Given the description of an element on the screen output the (x, y) to click on. 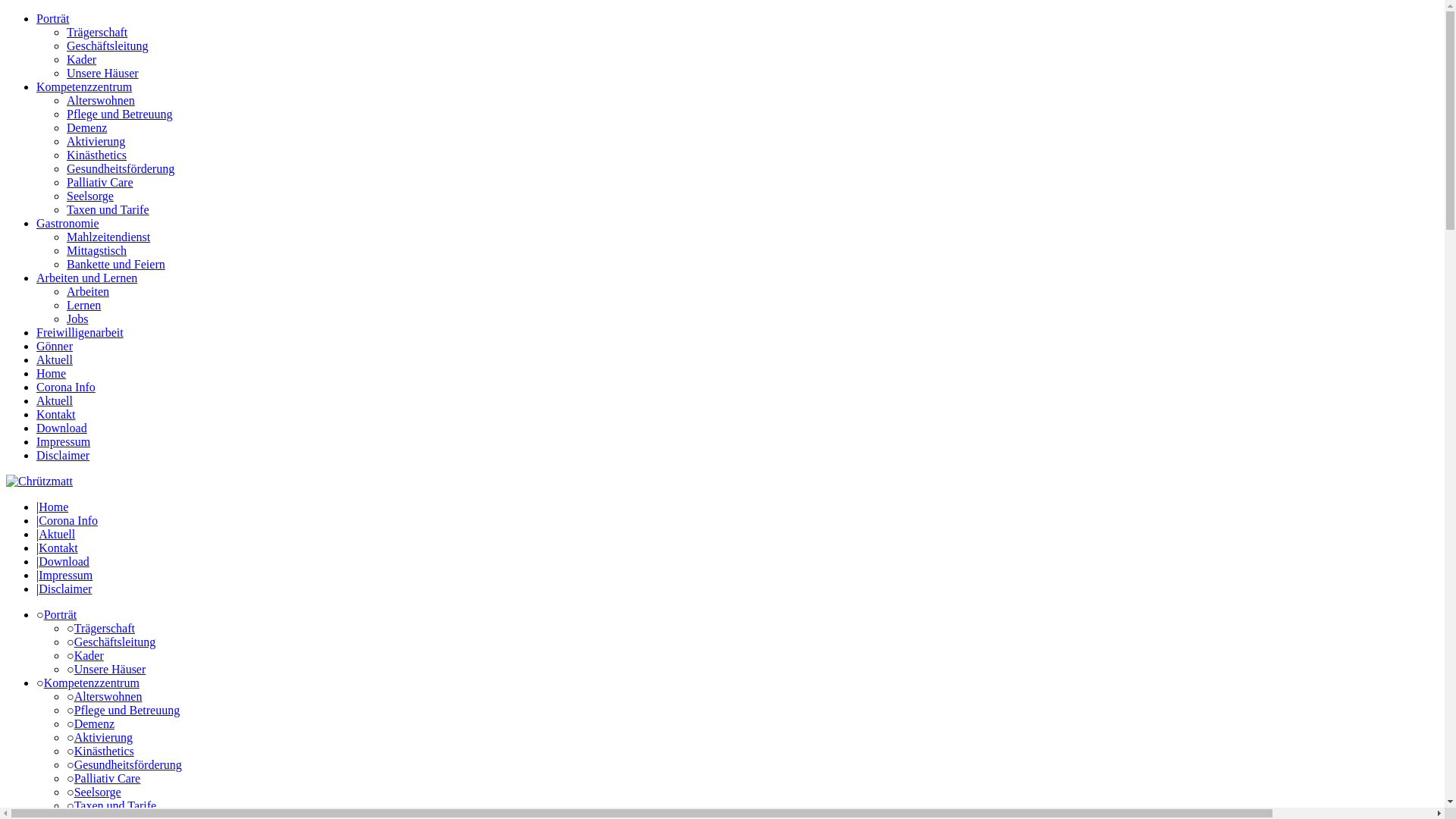
Disclaimer Element type: text (64, 588)
Kompetenzzentrum Element type: text (83, 86)
Seelsorge Element type: text (97, 791)
Home Element type: hover (39, 480)
Bankette und Feiern Element type: text (115, 263)
Home Element type: text (53, 506)
Kontakt Element type: text (55, 413)
Aktivierung Element type: text (95, 140)
Seelsorge Element type: text (89, 195)
Disclaimer Element type: text (62, 454)
Alterswohnen Element type: text (108, 696)
Jobs Element type: text (76, 318)
Lernen Element type: text (83, 304)
Gastronomie Element type: text (67, 222)
Corona Info Element type: text (65, 386)
Palliativ Care Element type: text (99, 181)
Taxen und Tarife Element type: text (107, 209)
Arbeiten Element type: text (87, 291)
Aktivierung Element type: text (103, 737)
Pflege und Betreuung Element type: text (127, 709)
Arbeiten und Lernen Element type: text (86, 277)
Corona Info Element type: text (67, 520)
Freiwilligenarbeit Element type: text (79, 332)
Palliativ Care Element type: text (107, 777)
Impressum Element type: text (63, 441)
Aktuell Element type: text (56, 533)
Kontakt Element type: text (58, 547)
Kader Element type: text (81, 59)
Demenz Element type: text (94, 723)
Download Element type: text (61, 427)
Kader Element type: text (88, 655)
Taxen und Tarife Element type: text (115, 805)
Mahlzeitendienst Element type: text (108, 236)
Home Element type: text (50, 373)
Pflege und Betreuung Element type: text (119, 113)
Demenz Element type: text (86, 127)
Aktuell Element type: text (54, 359)
Kompetenzzentrum Element type: text (91, 682)
Download Element type: text (63, 561)
Alterswohnen Element type: text (100, 100)
Aktuell Element type: text (54, 400)
Impressum Element type: text (65, 574)
Mittagstisch Element type: text (96, 250)
